Given the description of an element on the screen output the (x, y) to click on. 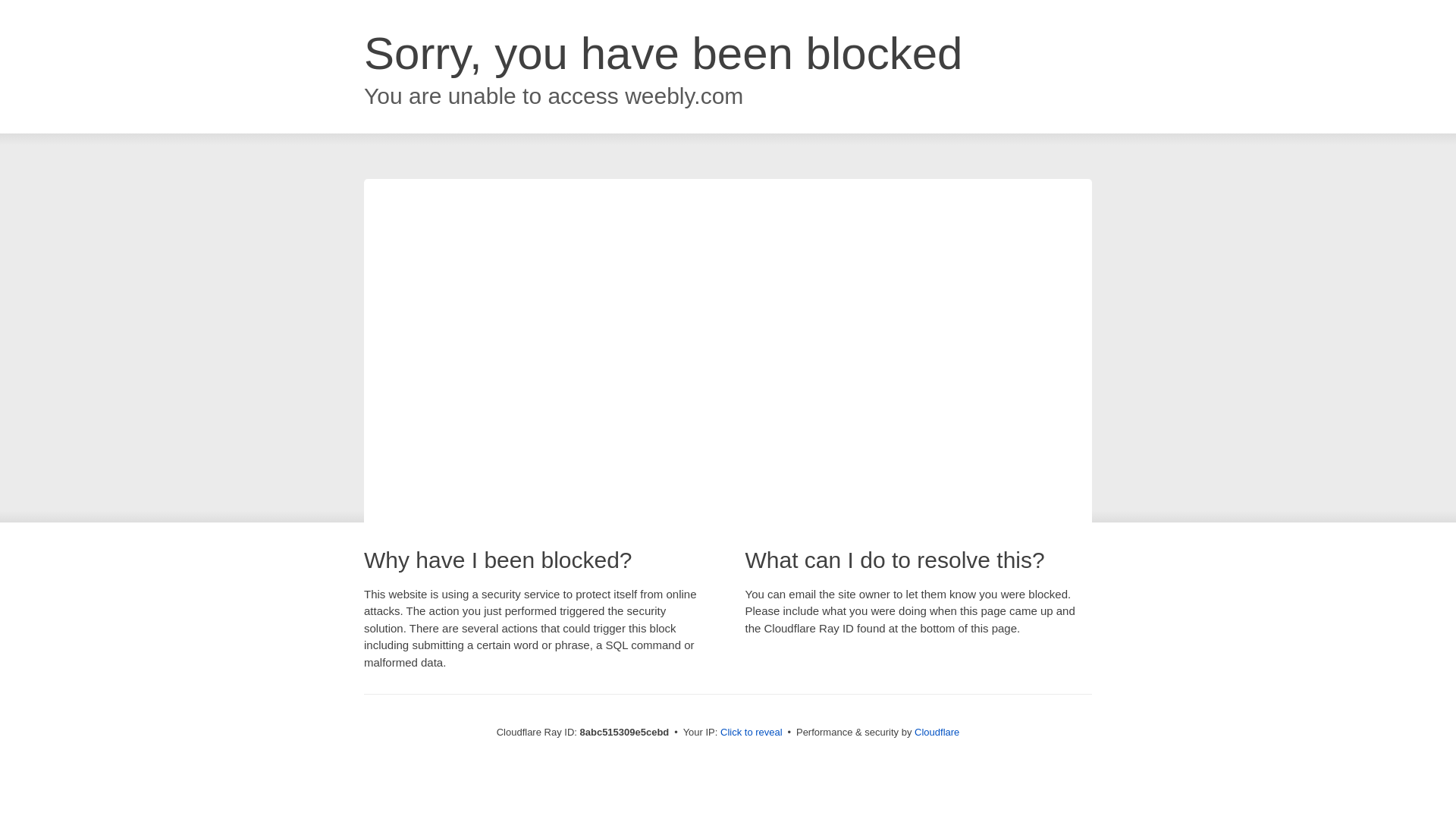
Cloudflare (936, 731)
Click to reveal (751, 732)
